Given the description of an element on the screen output the (x, y) to click on. 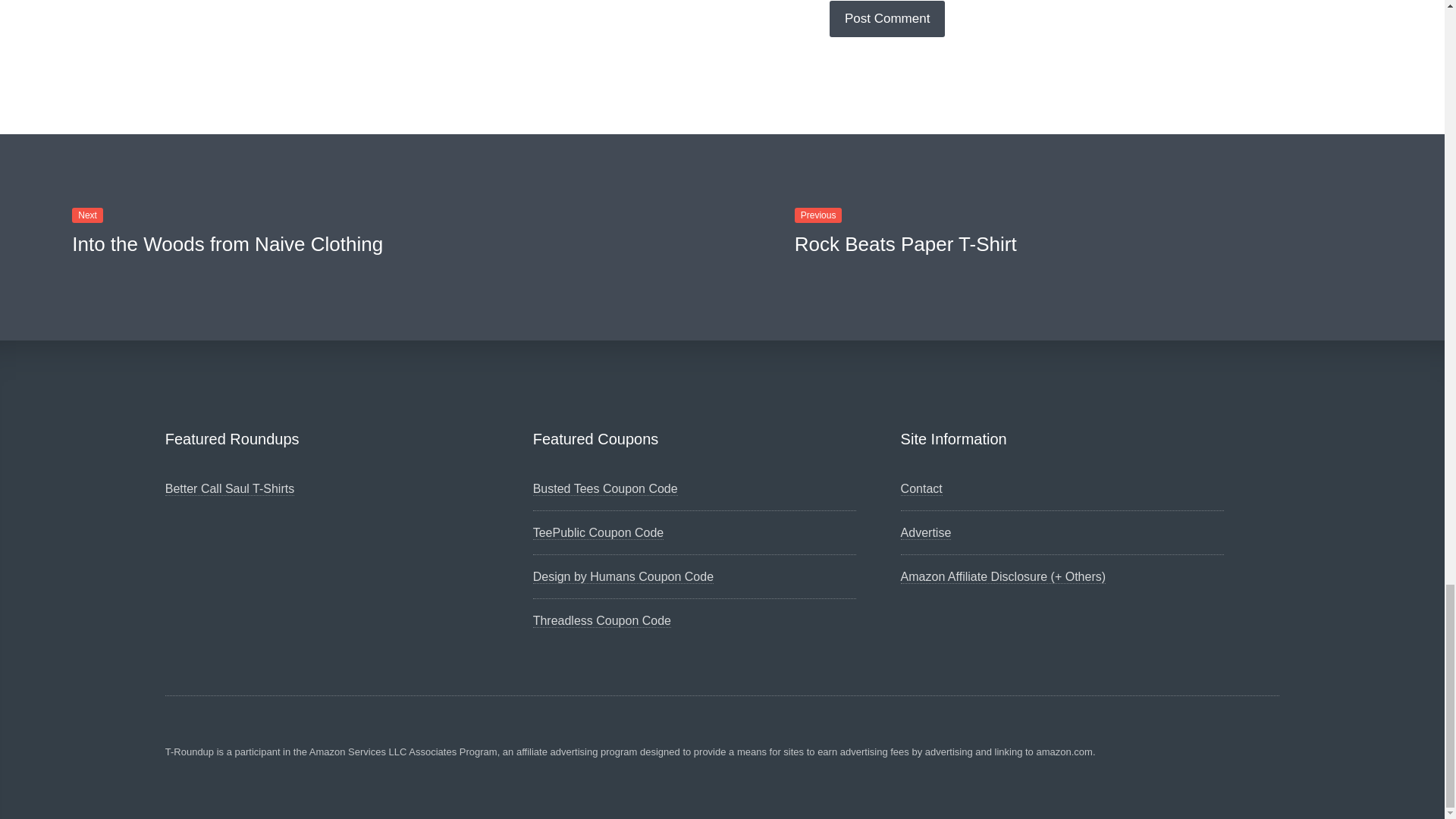
Post Comment (886, 18)
